Given the description of an element on the screen output the (x, y) to click on. 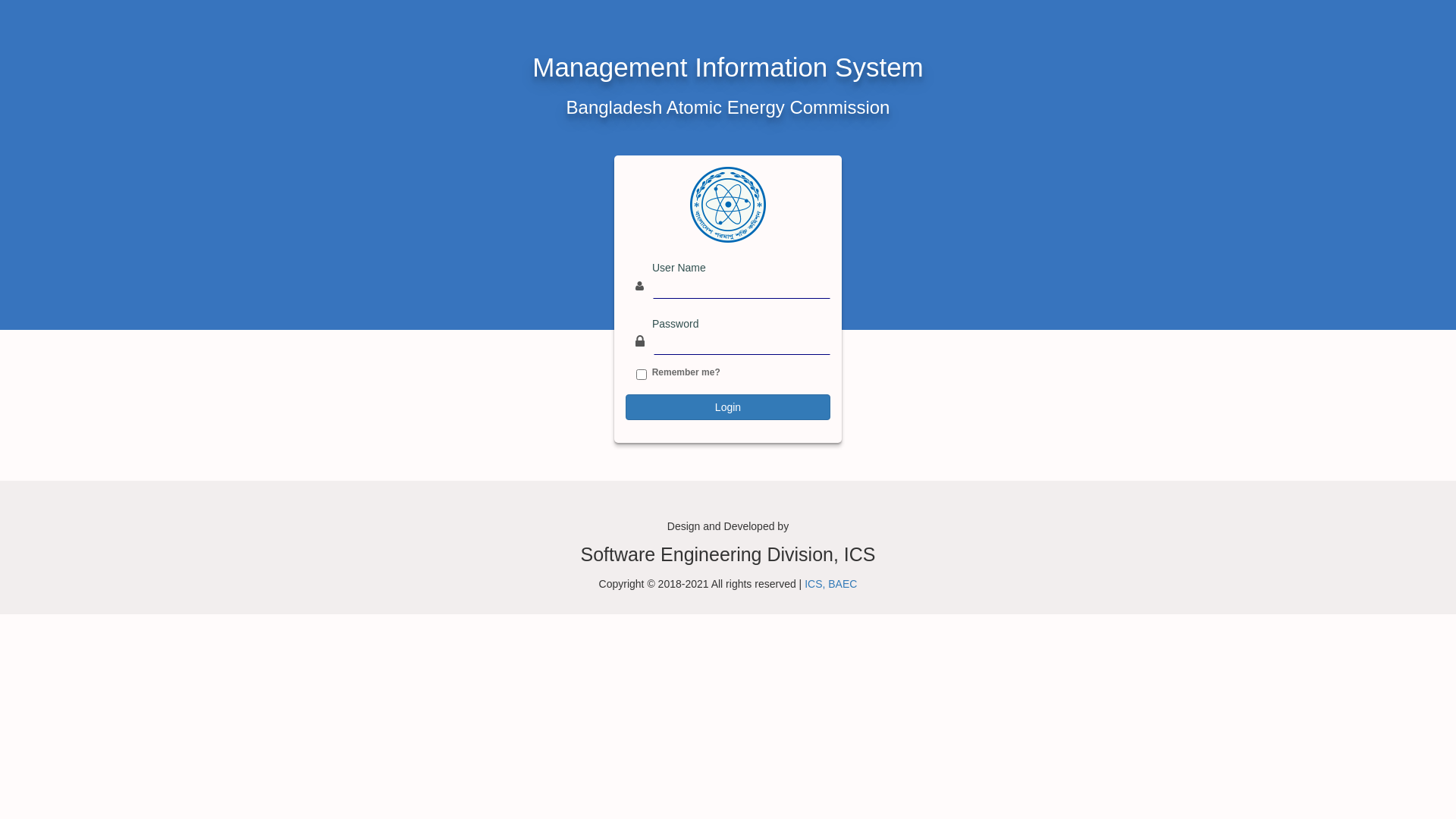
Login Element type: text (727, 407)
ICS, BAEC Element type: text (830, 583)
